Given the description of an element on the screen output the (x, y) to click on. 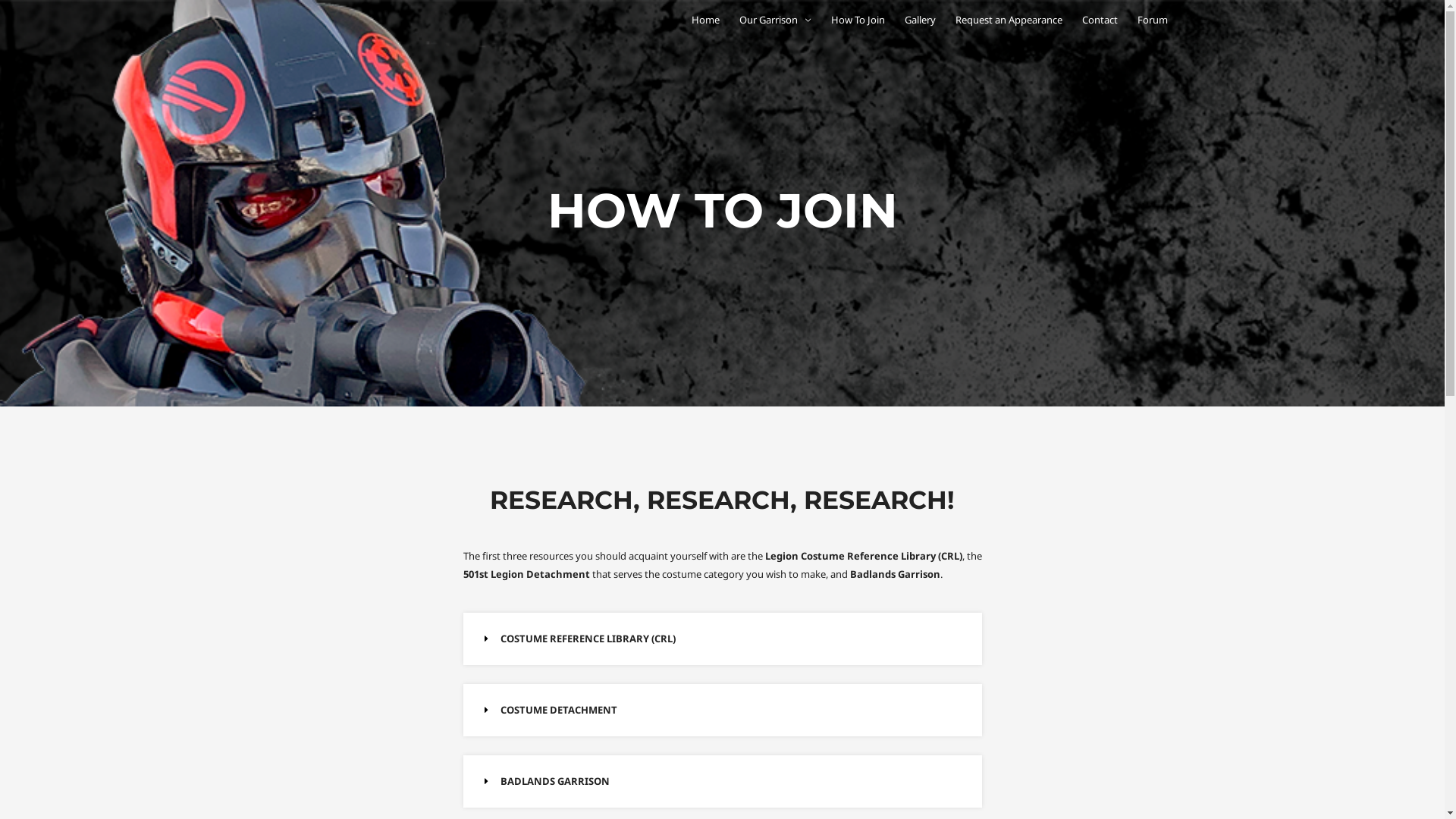
Gallery Element type: text (919, 19)
BADLANDS GARRISON Element type: text (554, 780)
Home Element type: text (704, 19)
Forum Element type: text (1151, 19)
COSTUME DETACHMENT Element type: text (558, 709)
Request an Appearance Element type: text (1007, 19)
How To Join Element type: text (857, 19)
Our Garrison Element type: text (775, 19)
COSTUME REFERENCE LIBRARY (CRL) Element type: text (587, 638)
Contact Element type: text (1099, 19)
